Given the description of an element on the screen output the (x, y) to click on. 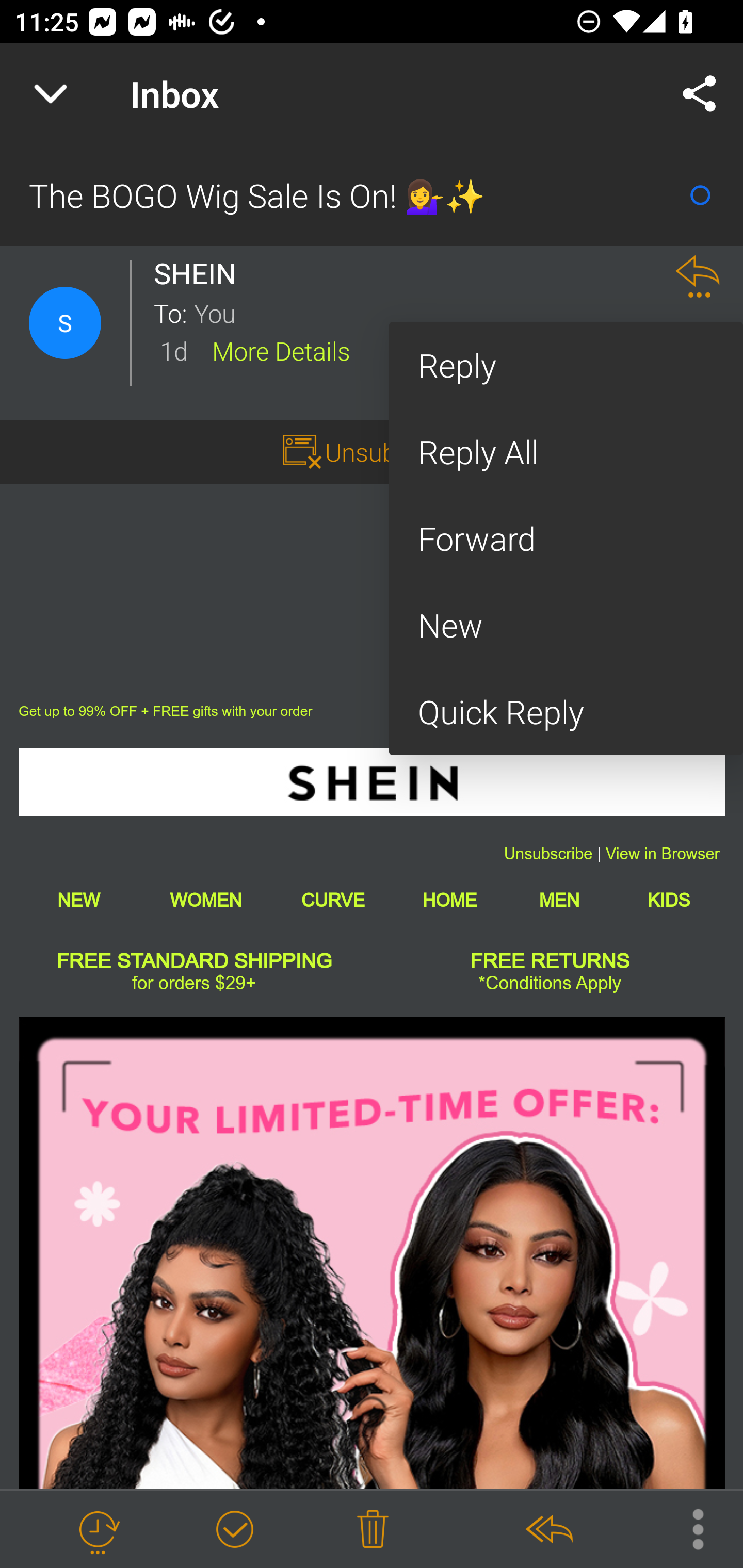
Reply (566, 365)
Reply All (566, 452)
Forward (566, 538)
New (566, 624)
Quick Reply (566, 711)
